Given the description of an element on the screen output the (x, y) to click on. 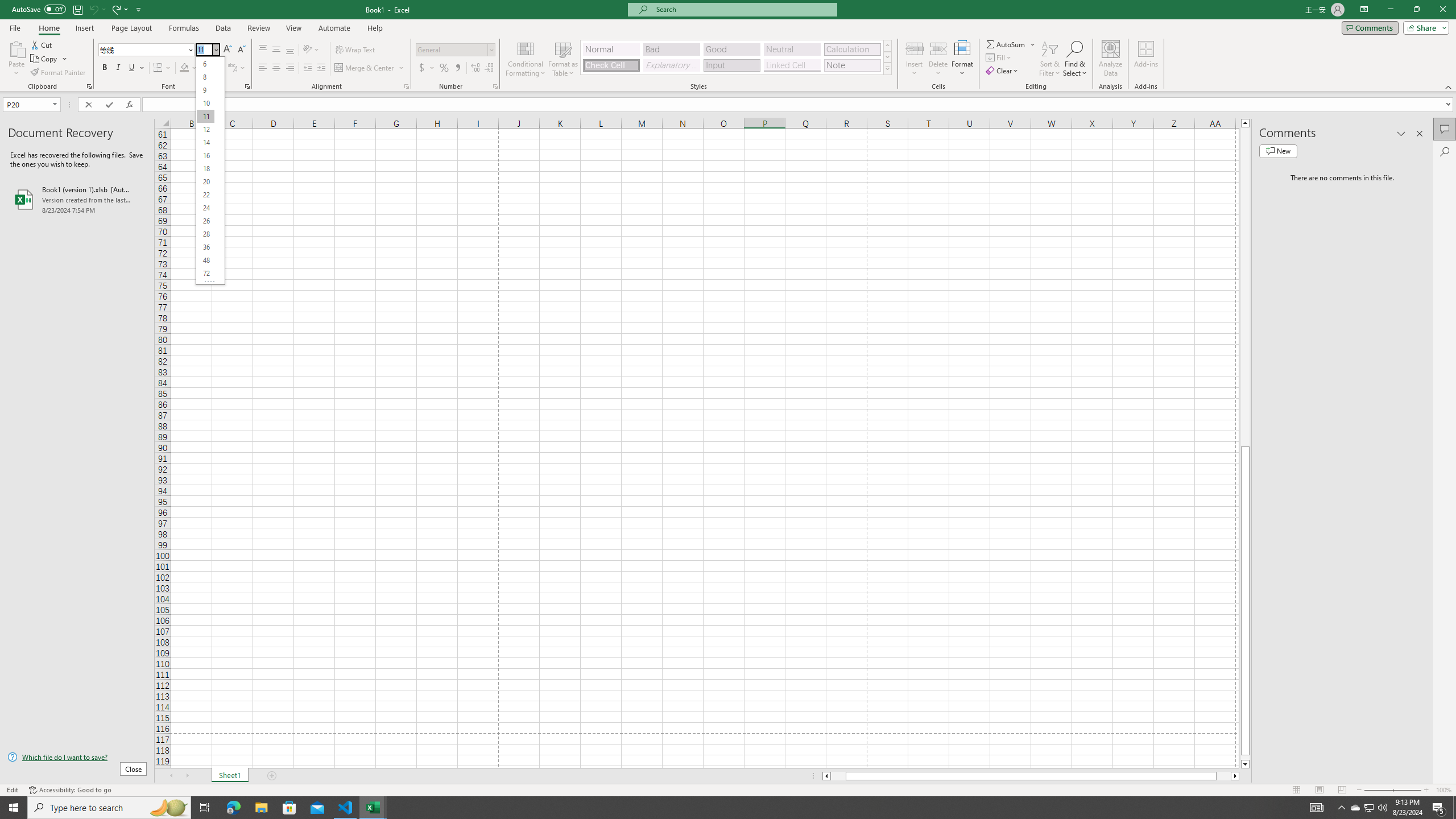
Redo (115, 9)
Font (142, 49)
Page left (838, 775)
Paste (16, 58)
Font Color RGB(255, 0, 0) (206, 67)
Bottom Border (157, 67)
Accounting Number Format (422, 67)
Bad (671, 49)
Align Right (290, 67)
Underline (131, 67)
Conditional Formatting (525, 58)
Format Painter (58, 72)
Bold (104, 67)
Save (77, 9)
Restore Down (1416, 9)
